Given the description of an element on the screen output the (x, y) to click on. 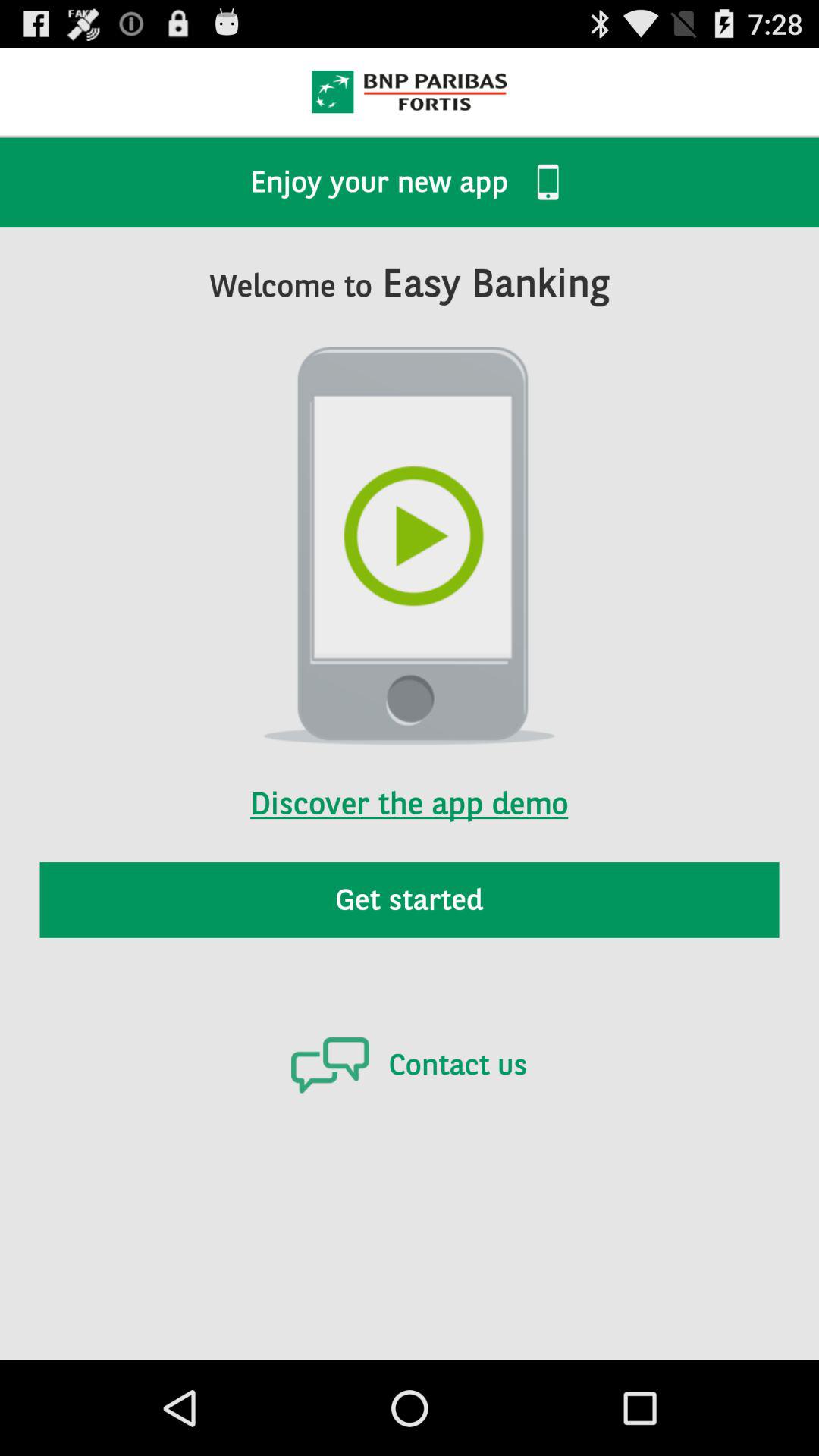
swipe until the contact us icon (409, 1065)
